Given the description of an element on the screen output the (x, y) to click on. 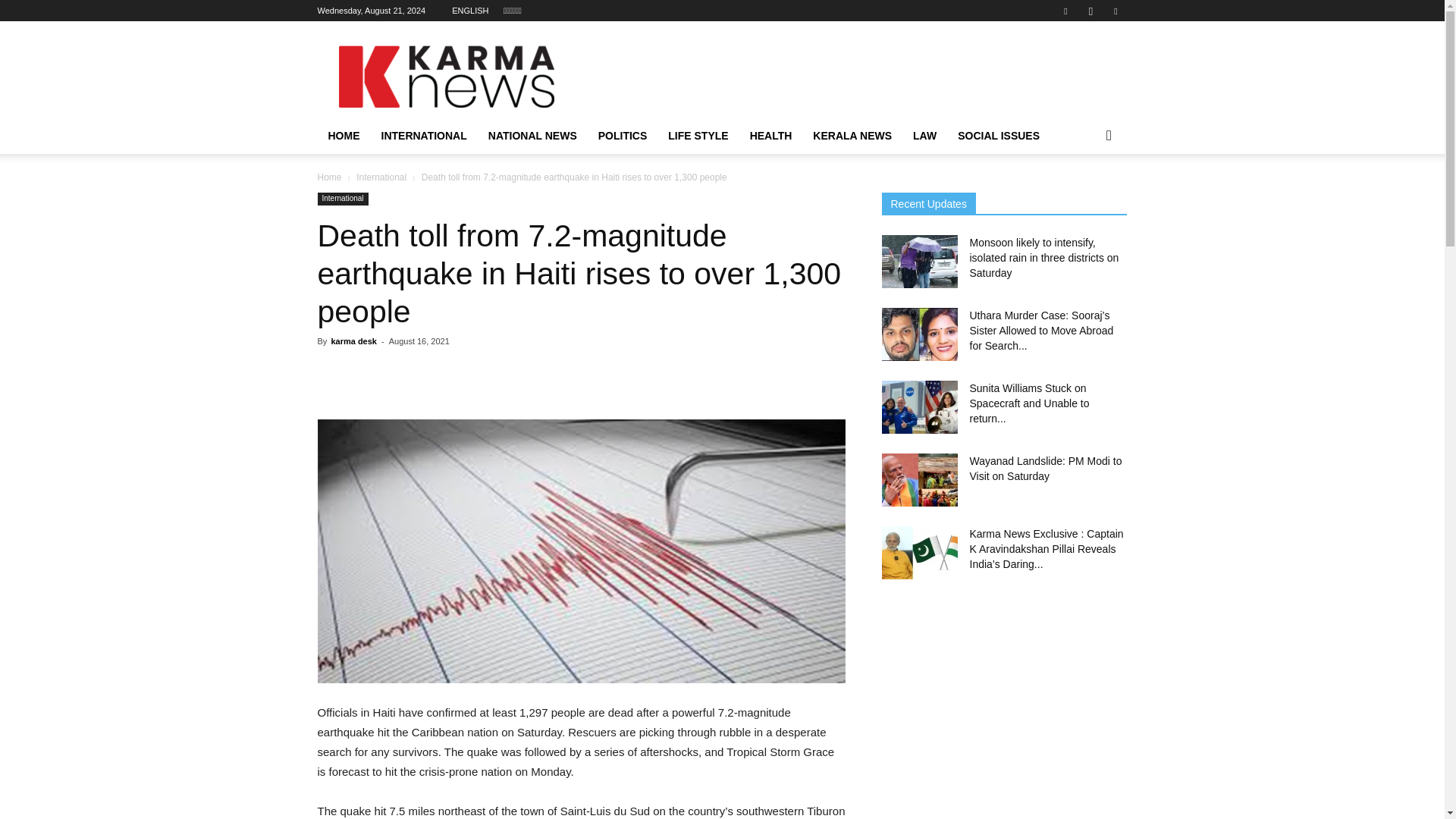
Search (1085, 196)
karma desk (353, 340)
POLITICS (623, 135)
SOCIAL ISSUES (998, 135)
International (342, 198)
HOME (343, 135)
Facebook (1065, 10)
INTERNATIONAL (423, 135)
LAW (924, 135)
Home (328, 176)
